Given the description of an element on the screen output the (x, y) to click on. 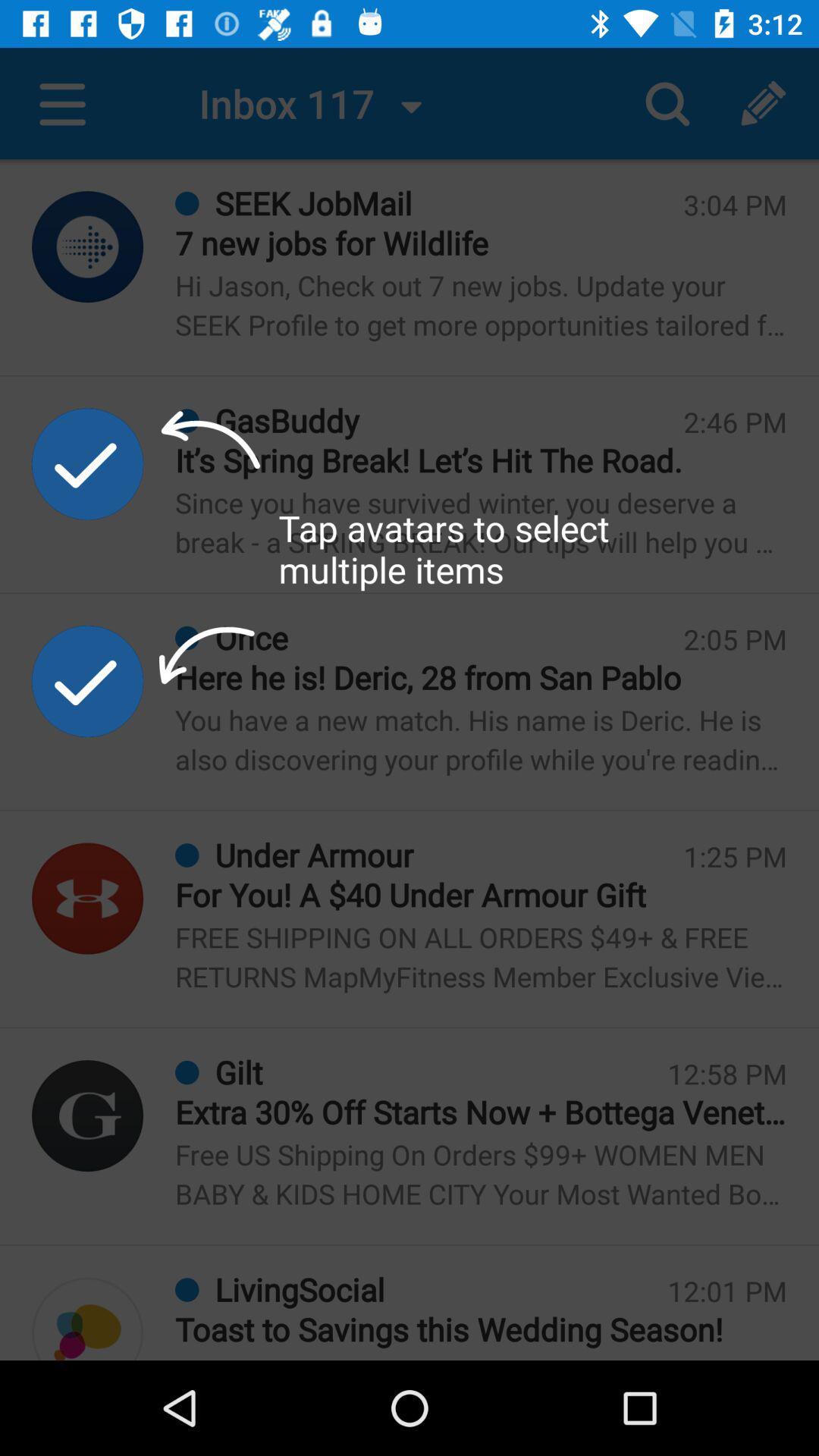
select one (87, 1115)
